Given the description of an element on the screen output the (x, y) to click on. 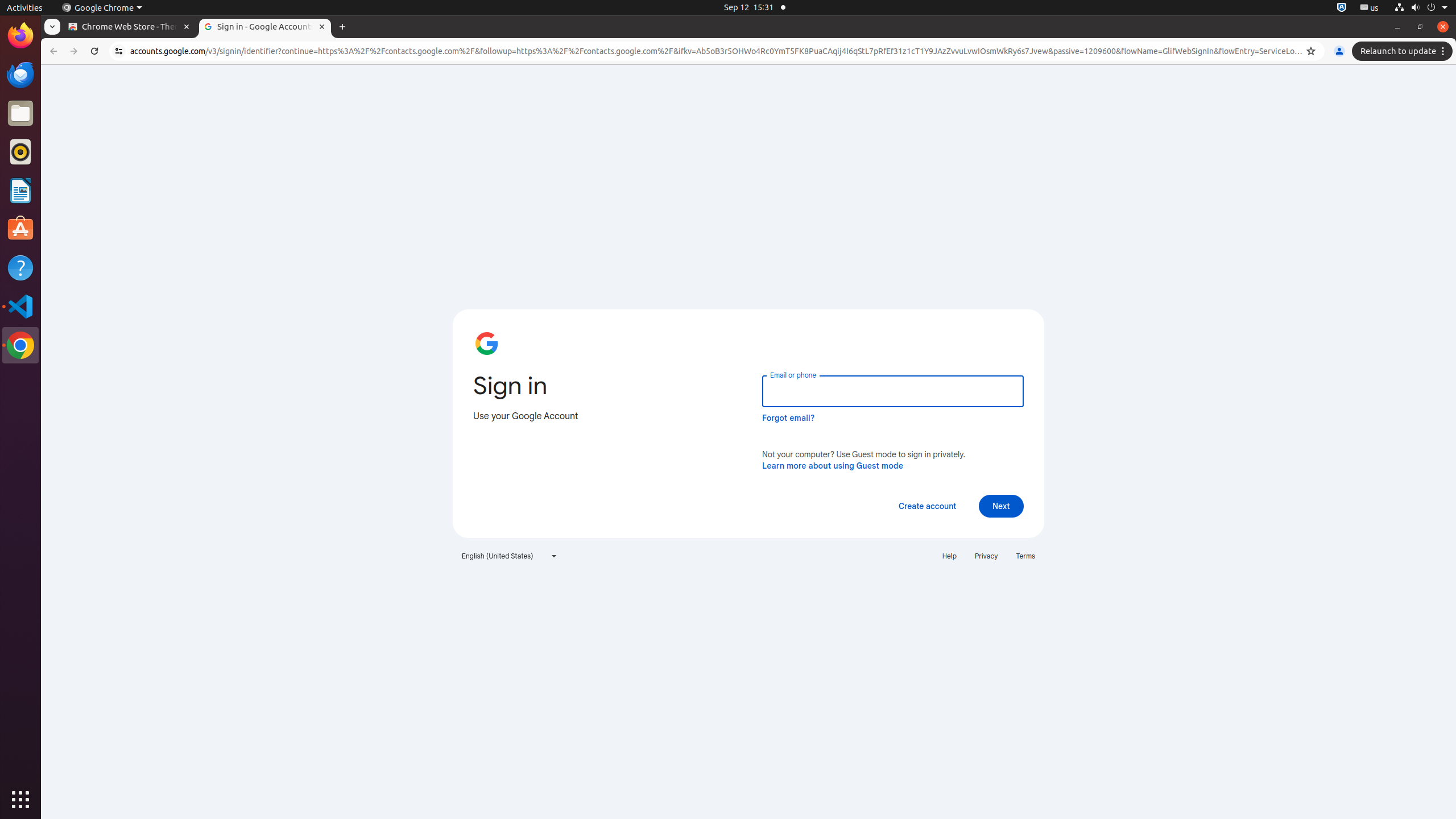
Forward Element type: push-button (73, 50)
Forgot email? Element type: push-button (788, 417)
​English (United States) Element type: combo-box (509, 556)
:1.21/StatusNotifierItem Element type: menu (1369, 7)
Help Element type: push-button (20, 267)
